Given the description of an element on the screen output the (x, y) to click on. 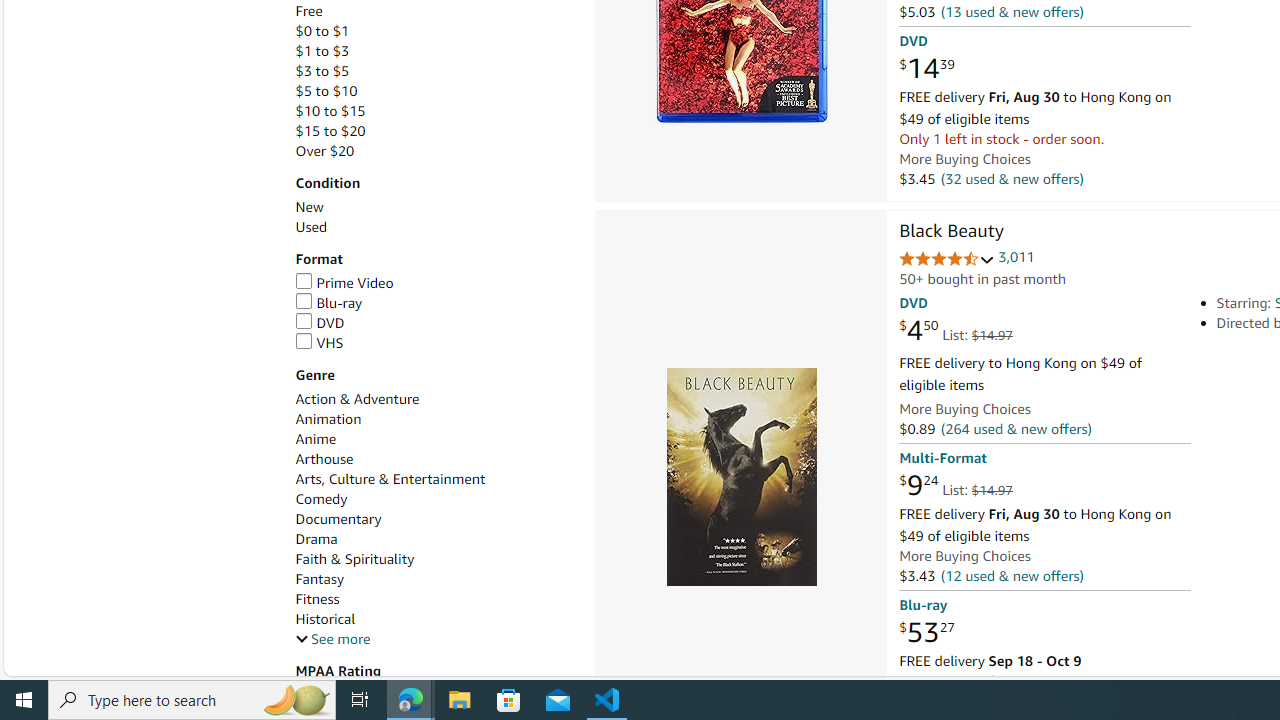
Over $20 (324, 151)
Drama (434, 539)
Used (434, 227)
$10 to $15 (434, 111)
Drama (315, 538)
DVD (434, 323)
VHS (434, 343)
Multi-Format (942, 458)
Fitness (434, 599)
New (308, 207)
Black Beauty (740, 476)
$15 to $20 (434, 131)
Action & Adventure (434, 399)
$0 to $1 (434, 31)
$1 to $3 (321, 51)
